Given the description of an element on the screen output the (x, y) to click on. 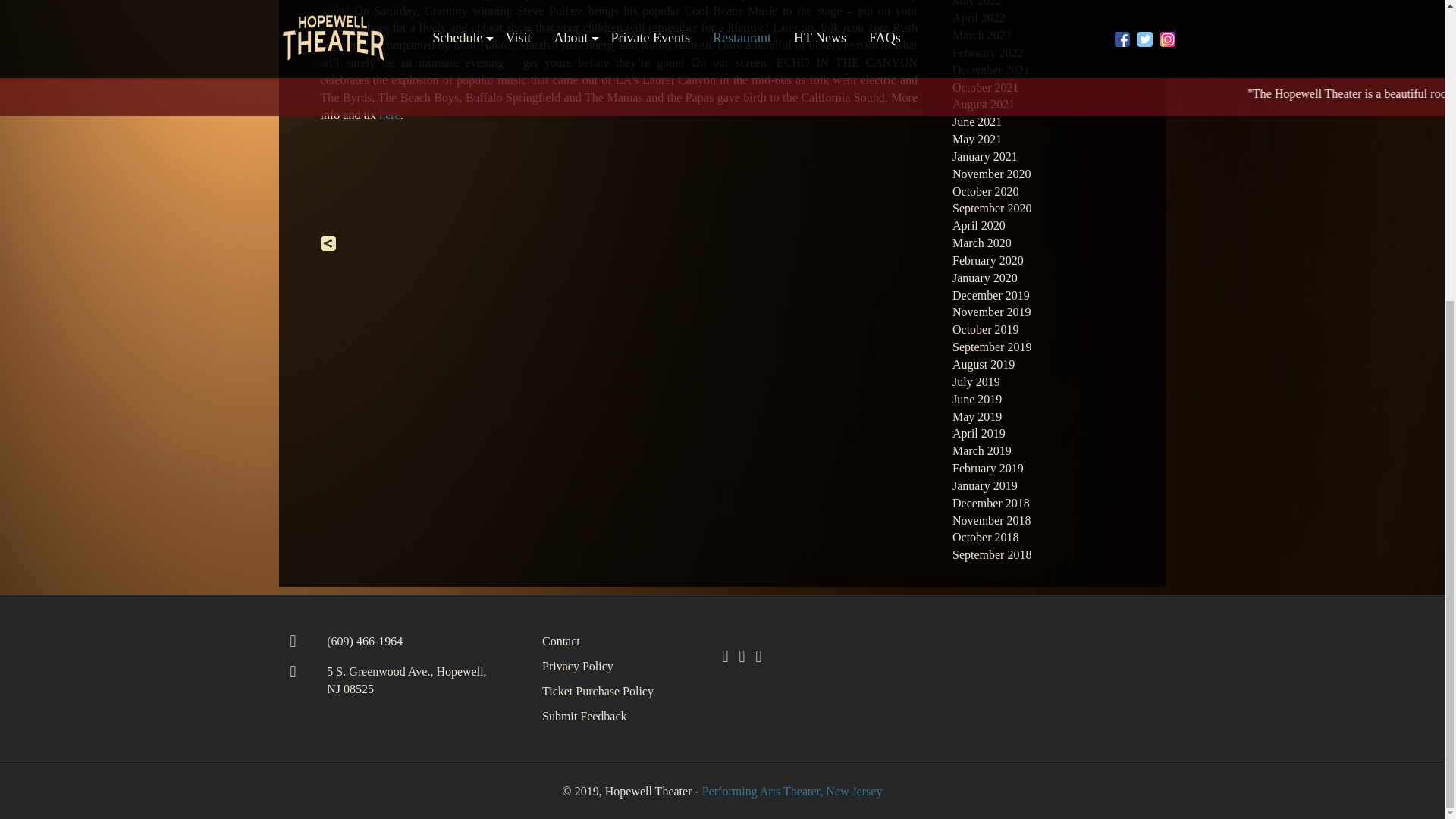
here (389, 114)
